Given the description of an element on the screen output the (x, y) to click on. 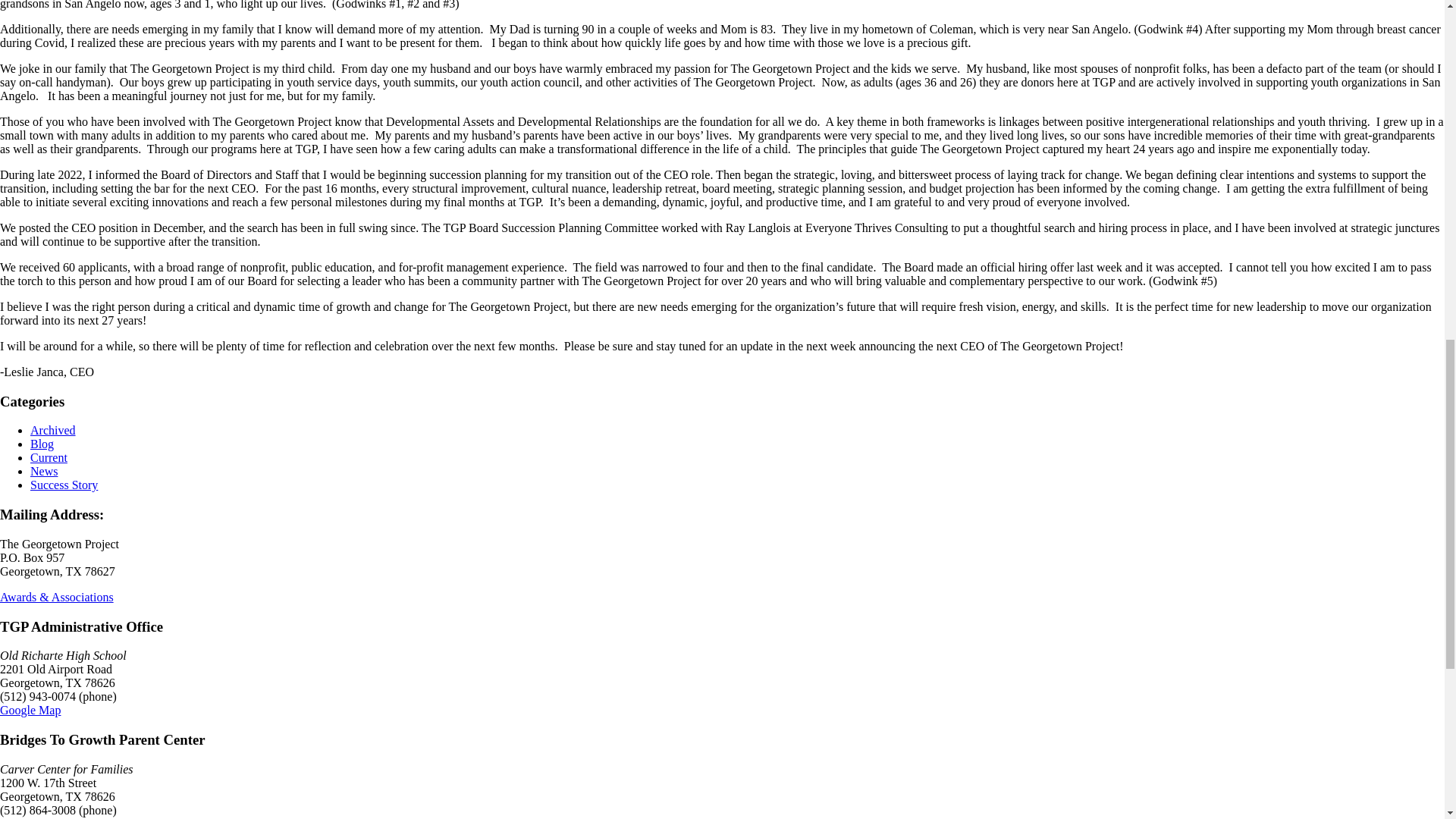
Current (48, 457)
Blog (41, 443)
News (44, 471)
Google Map (30, 818)
Success Story (63, 484)
Google Map (30, 709)
Archived (52, 430)
